Given the description of an element on the screen output the (x, y) to click on. 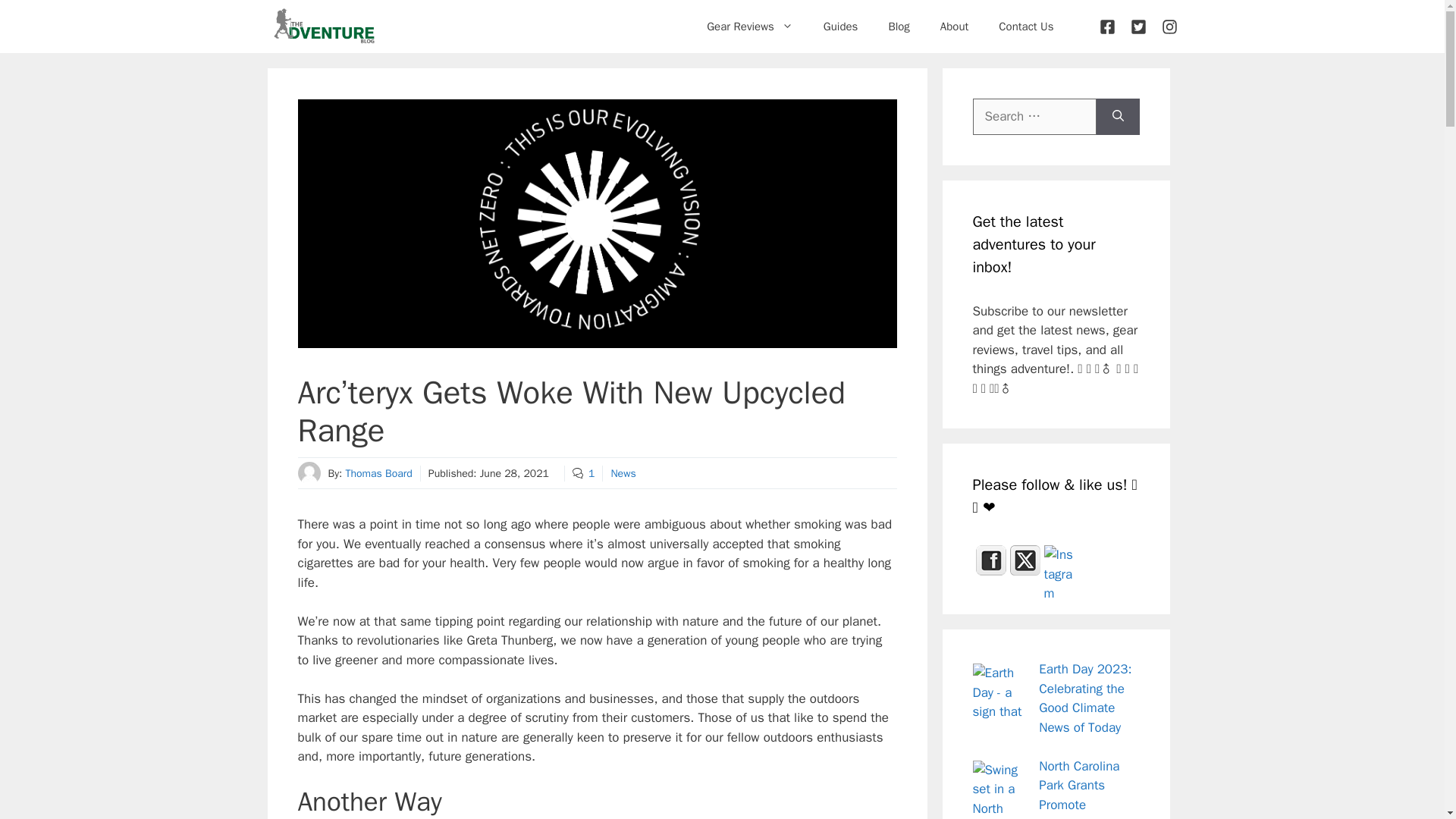
News (622, 472)
Facebook (990, 560)
The Adventure Blog (323, 26)
Search for: (1034, 116)
About (954, 26)
Contact Us (1026, 26)
Thomas Board (378, 472)
Guides (840, 26)
Blog (898, 26)
Gear Reviews (749, 26)
Twitter (1025, 560)
